Given the description of an element on the screen output the (x, y) to click on. 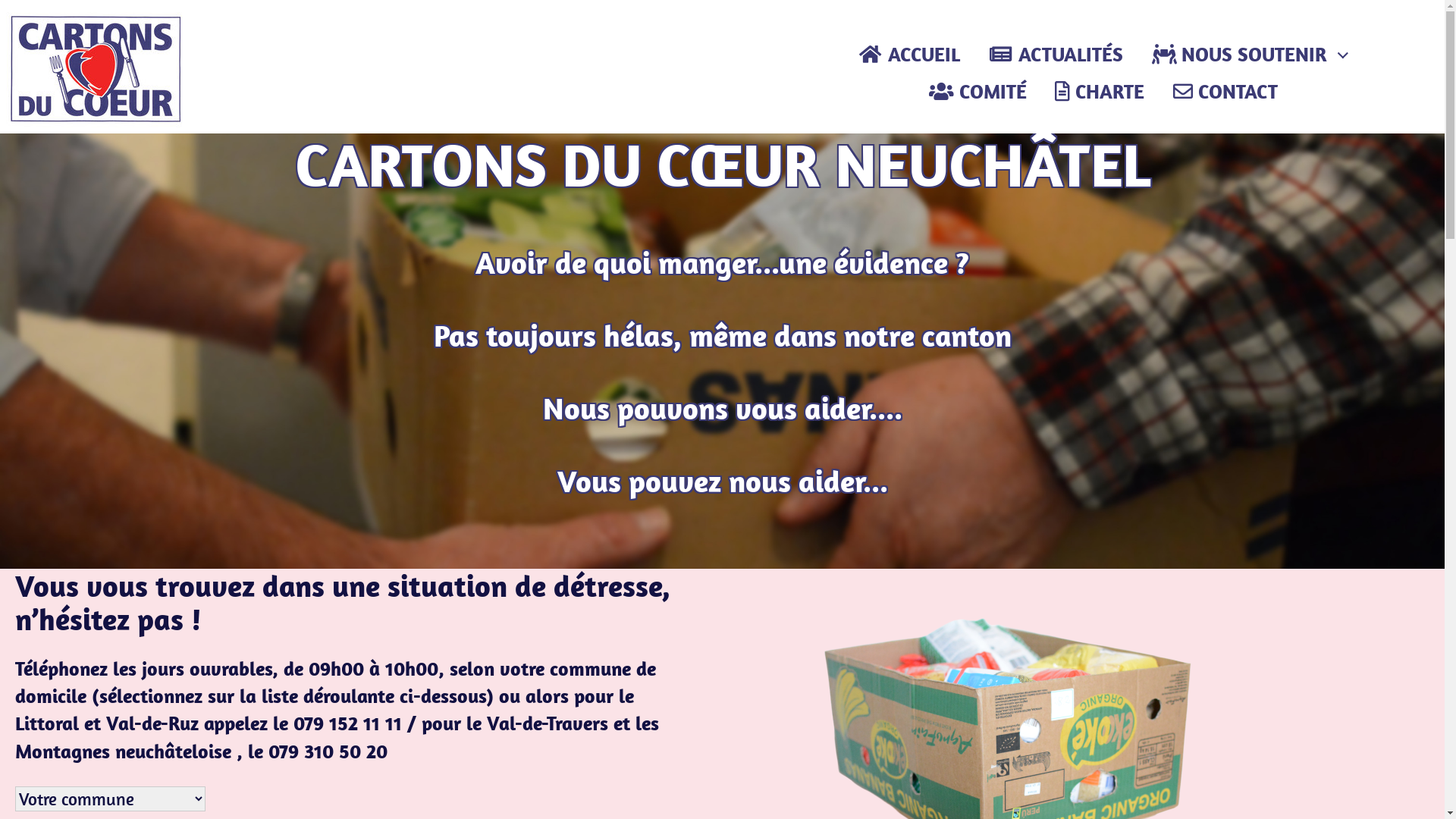
NOUS SOUTENIR Element type: text (1239, 54)
ACCUEIL Element type: text (909, 54)
CHARTE Element type: text (1099, 91)
CONTACT Element type: text (1225, 91)
Cartons du coeur Element type: text (147, 153)
